Given the description of an element on the screen output the (x, y) to click on. 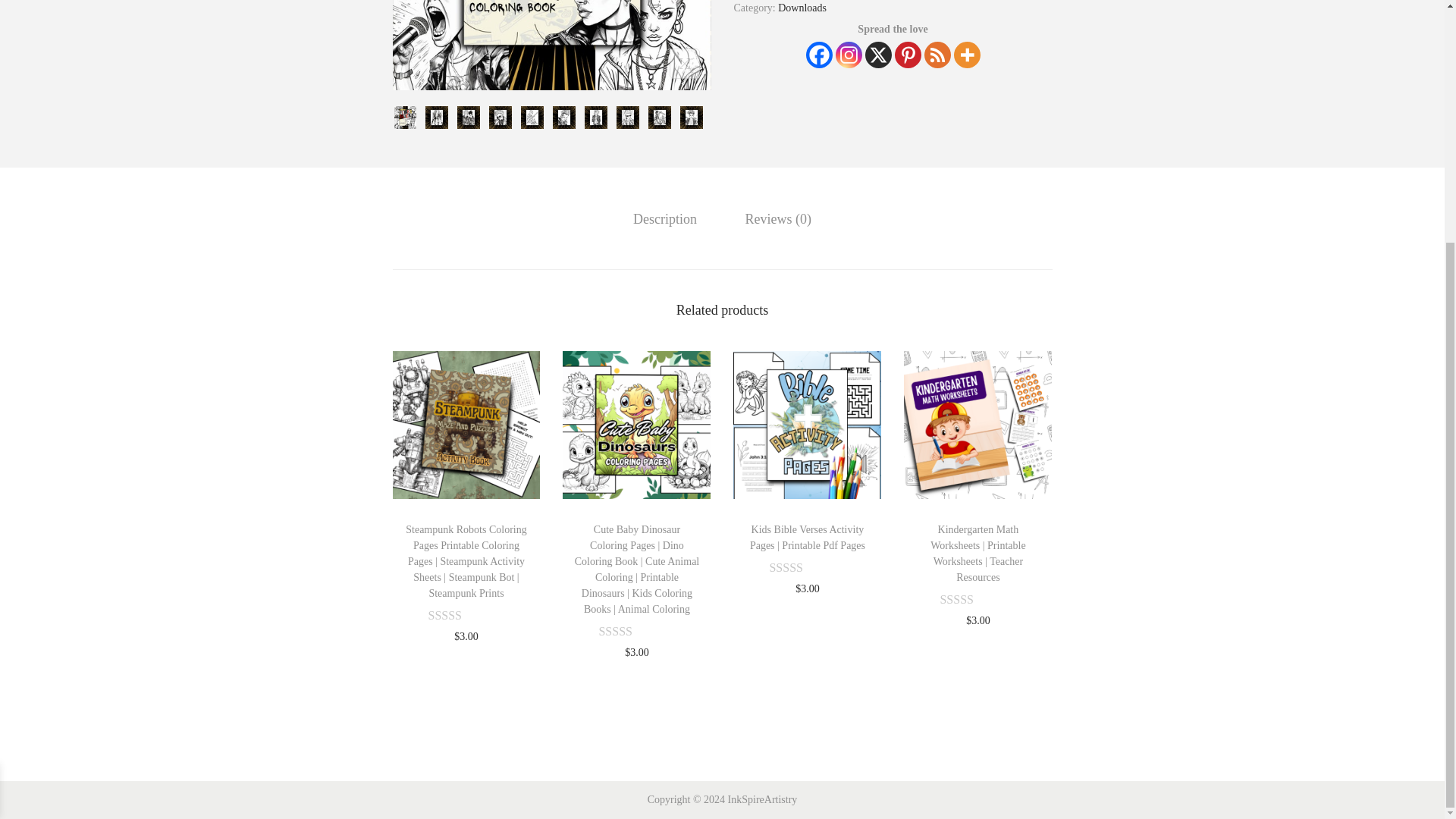
Instagram (848, 54)
RSS Feed (936, 54)
X (877, 54)
Pinterest (908, 54)
More (966, 54)
Facebook (818, 54)
